Given the description of an element on the screen output the (x, y) to click on. 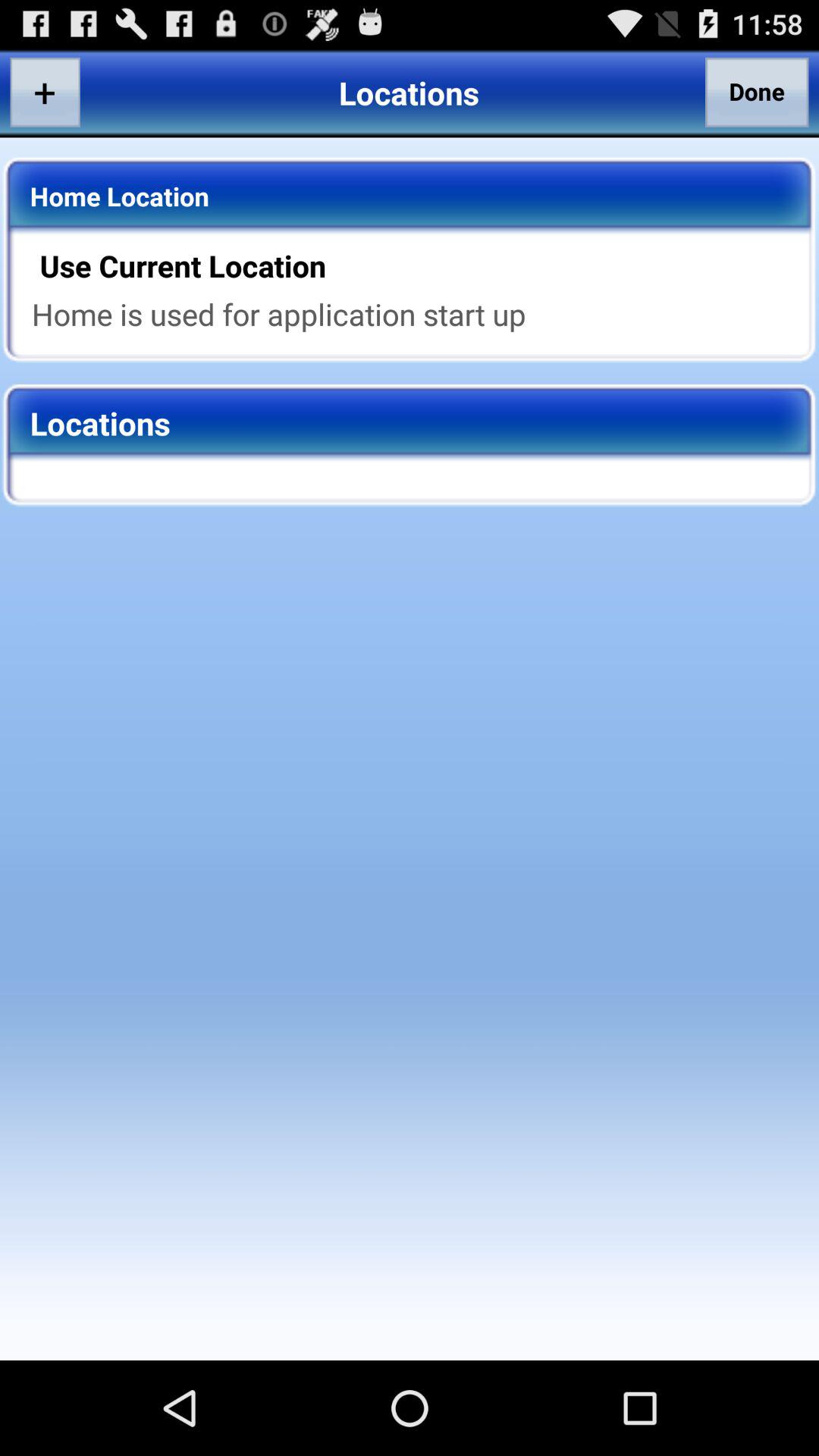
turn off app to the left of the locations (45, 92)
